Given the description of an element on the screen output the (x, y) to click on. 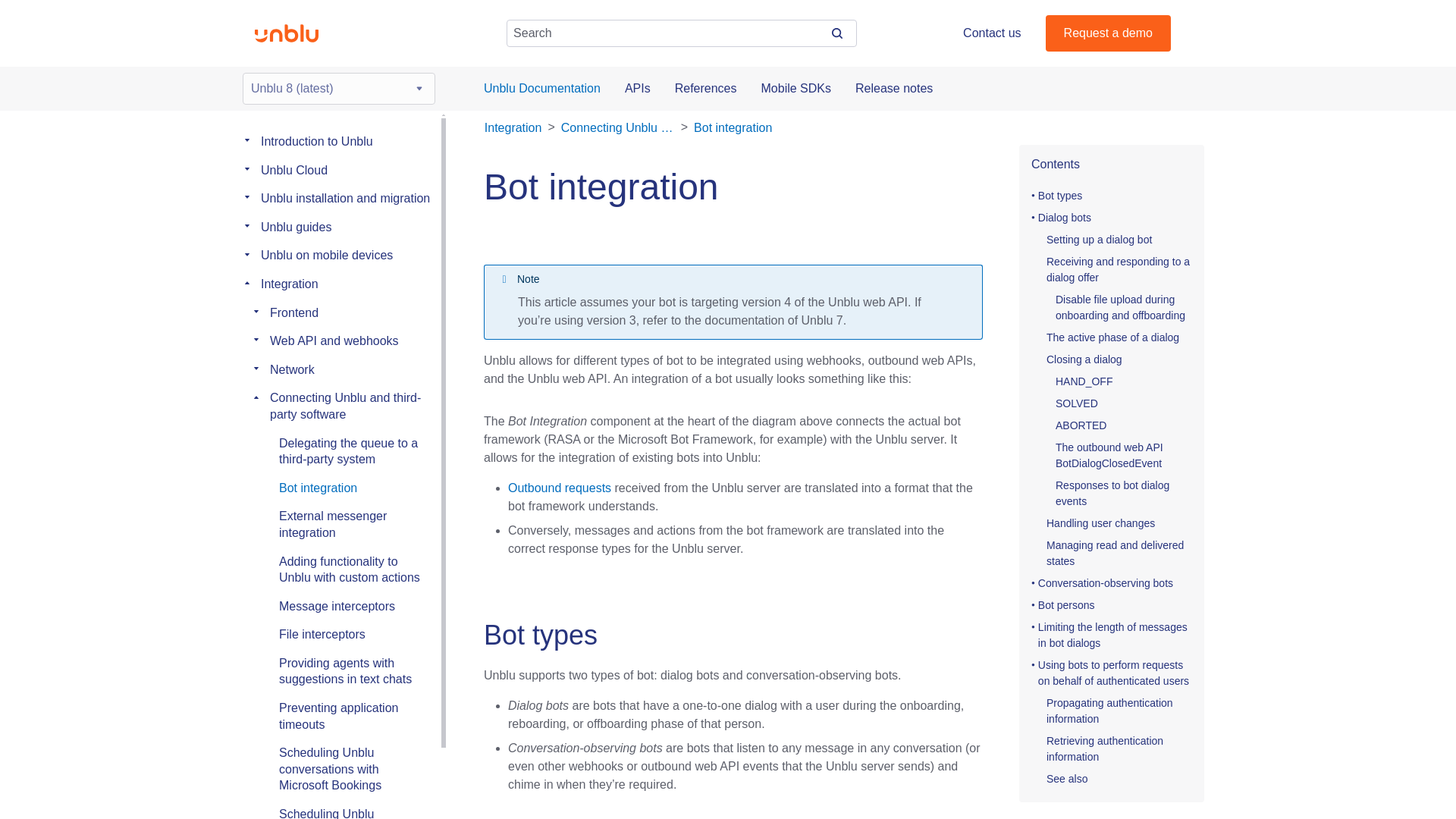
Introduction to Unblu (316, 141)
Unblu Documentation (541, 88)
Unblu Cloud (293, 169)
Contact us (991, 33)
Note (732, 279)
Request a demo (1107, 33)
Unblu installation and migration (344, 197)
